Given the description of an element on the screen output the (x, y) to click on. 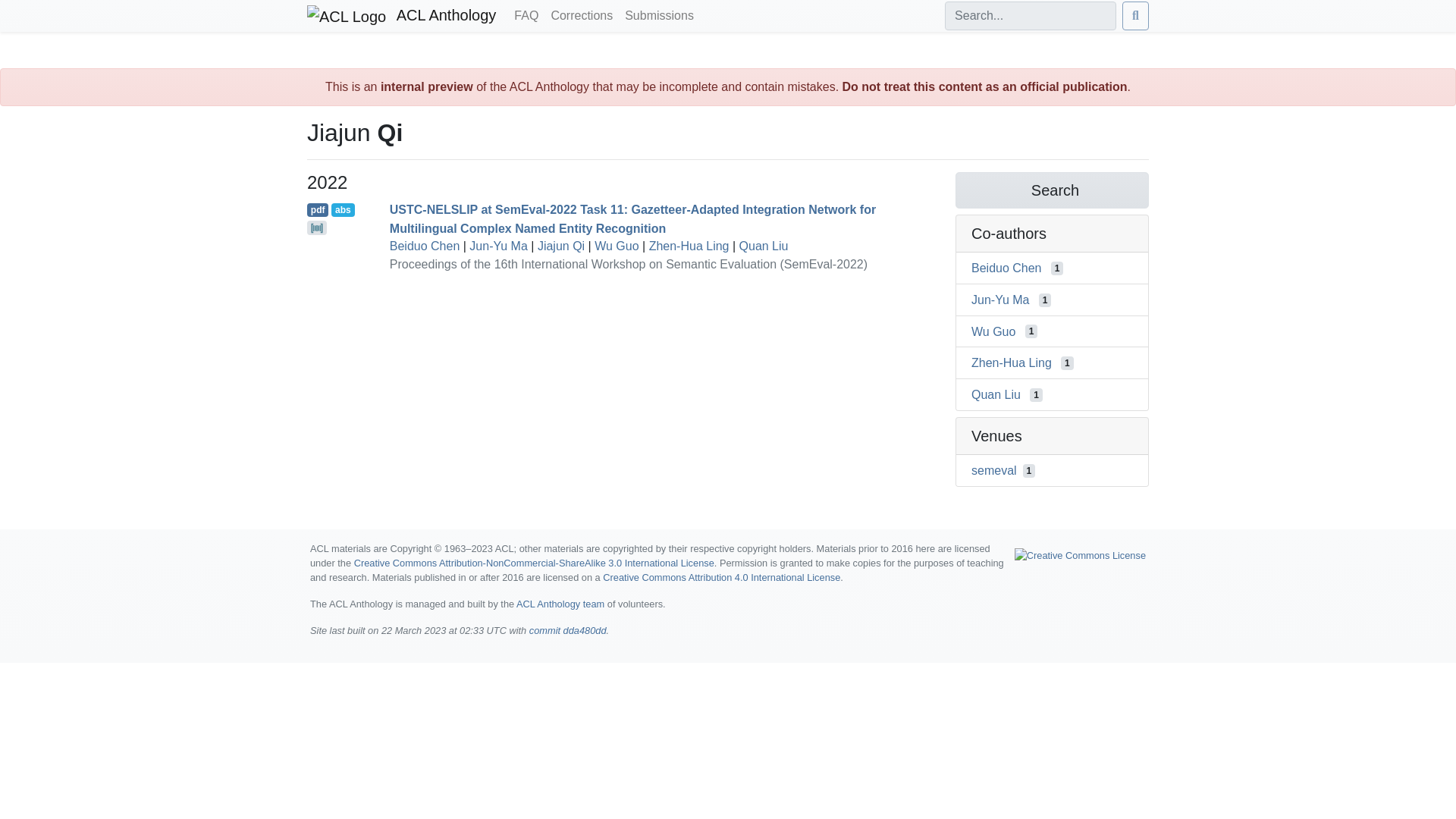
semeval (993, 470)
Jiajun Qi (561, 245)
Wu Guo (992, 330)
ACL Anthology (401, 15)
Jun-Yu Ma (1000, 299)
Quan Liu (764, 245)
Open PDF (318, 210)
Zhen-Hua Ling (689, 245)
Code (316, 227)
Quan Liu (995, 394)
Creative Commons Attribution 4.0 International License (721, 577)
Zhen-Hua Ling (1011, 362)
Search for 'Jiajun Qi' on Semantic Scholar (1051, 189)
Wu Guo (616, 245)
